Given the description of an element on the screen output the (x, y) to click on. 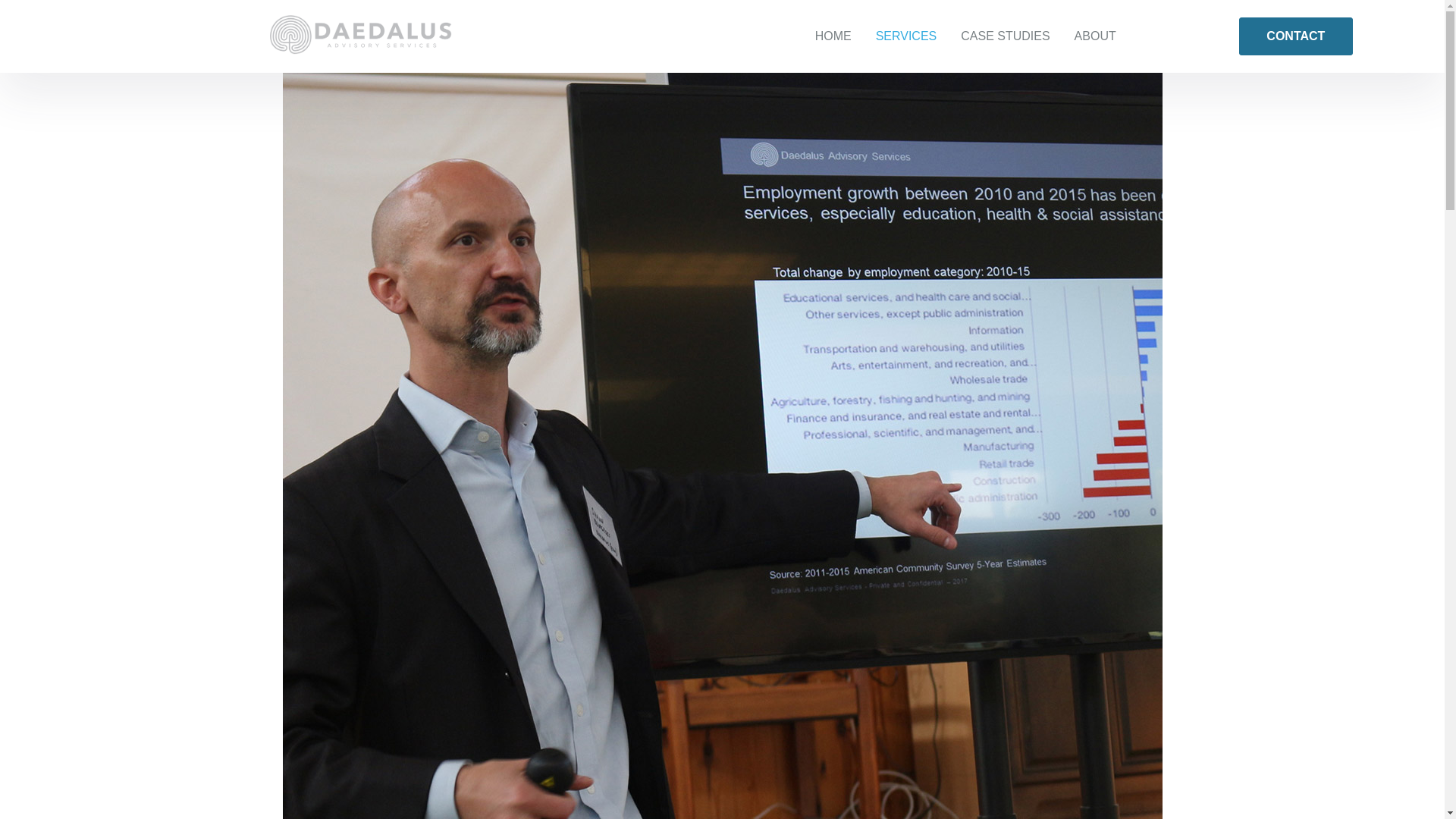
HOME (832, 36)
CONTACT (1295, 36)
SERVICES (906, 36)
ABOUT (1095, 36)
CASE STUDIES (1004, 36)
